Given the description of an element on the screen output the (x, y) to click on. 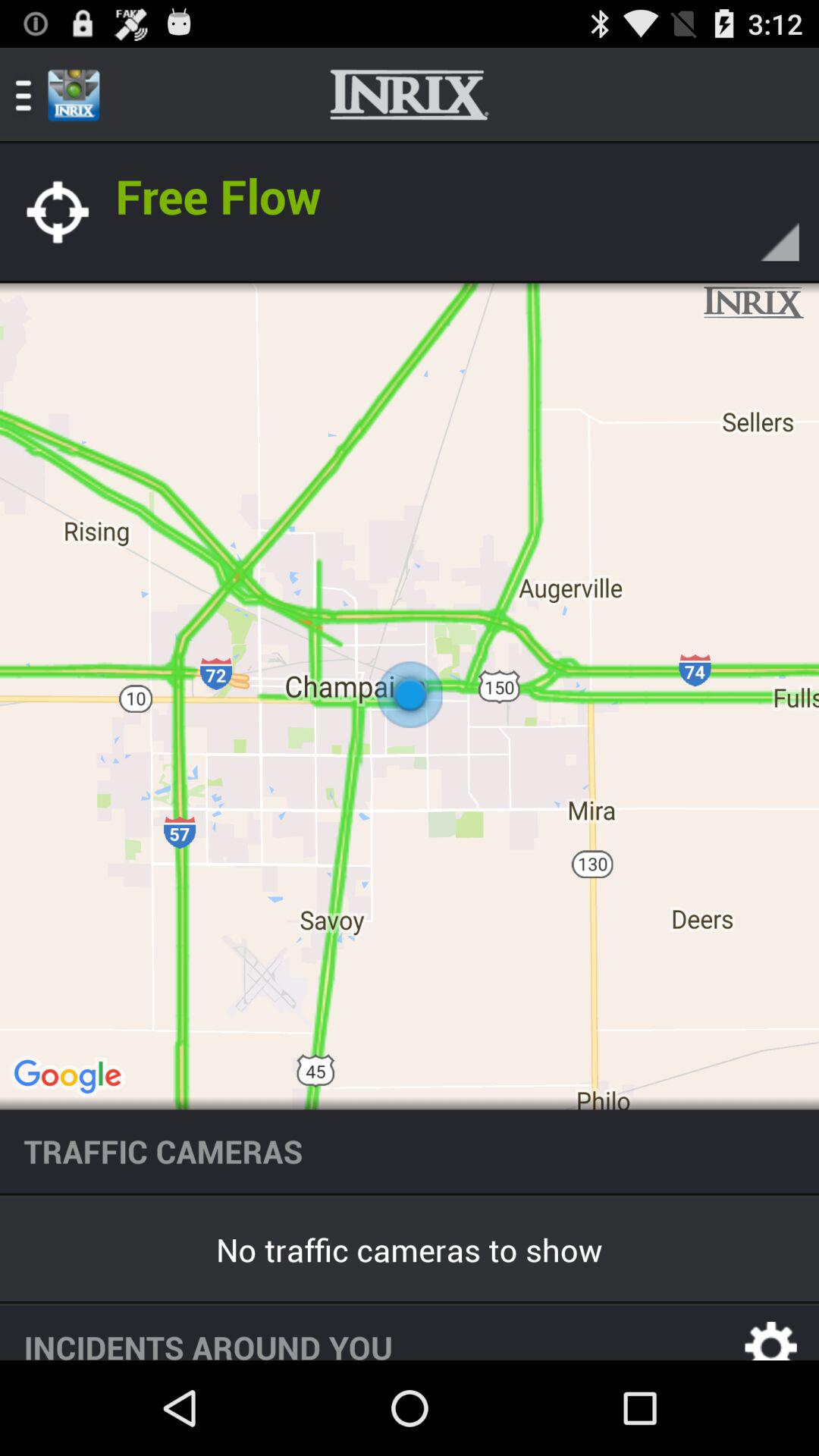
setting option (771, 1332)
